Given the description of an element on the screen output the (x, y) to click on. 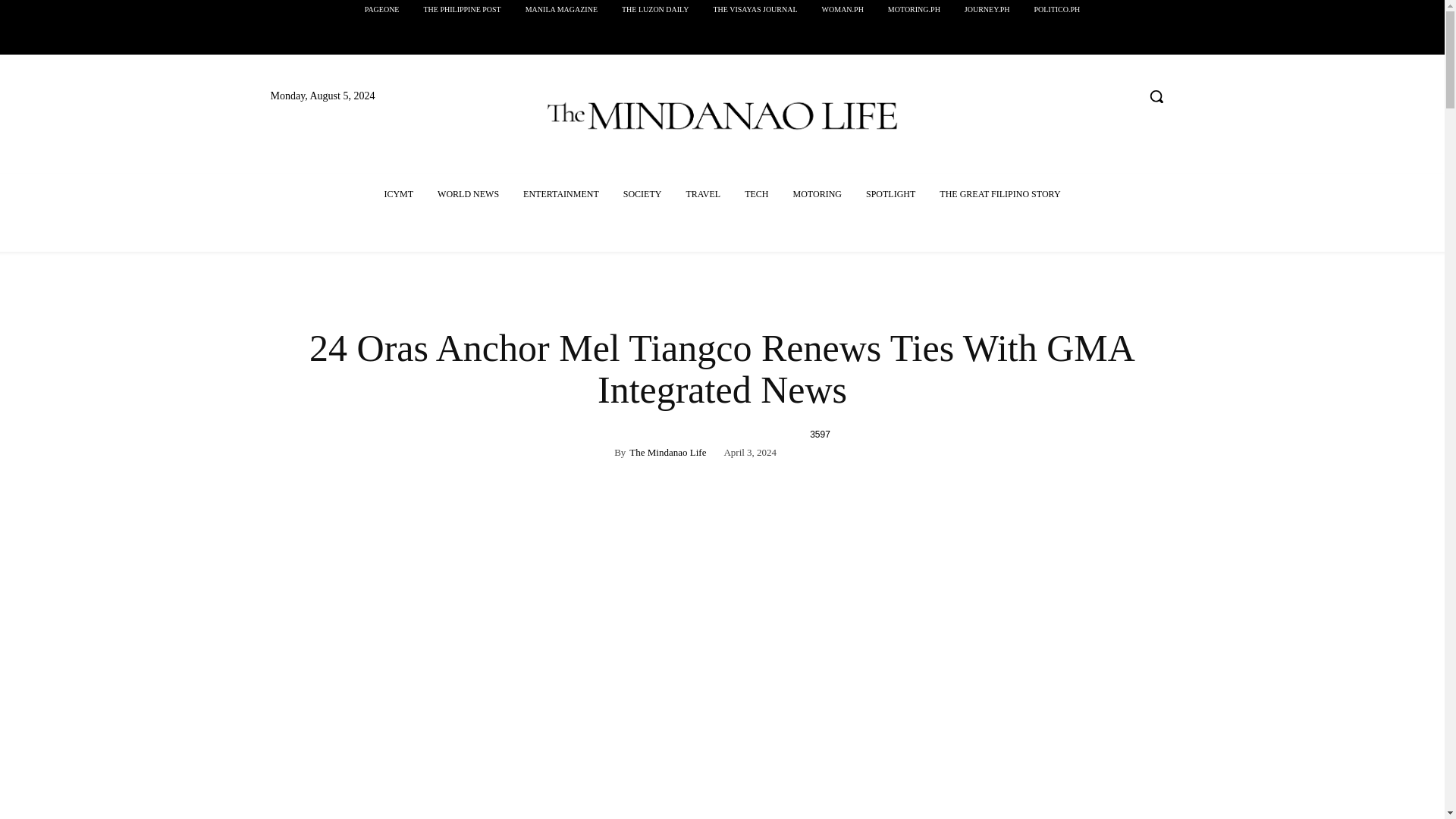
The Mindanao Life (667, 452)
WOMAN.PH (842, 9)
THE VISAYAS JOURNAL (754, 9)
PAGEONE (382, 9)
MANILA MAGAZINE (561, 9)
THE LUZON DAILY (655, 9)
SPOTLIGHT (890, 194)
THE PHILIPPINE POST (461, 9)
MOTORING.PH (914, 9)
JOURNEY.PH (987, 9)
WORLD NEWS (468, 194)
POLITICO.PH (1057, 9)
ICYMT (398, 194)
SOCIETY (642, 194)
MOTORING (816, 194)
